Given the description of an element on the screen output the (x, y) to click on. 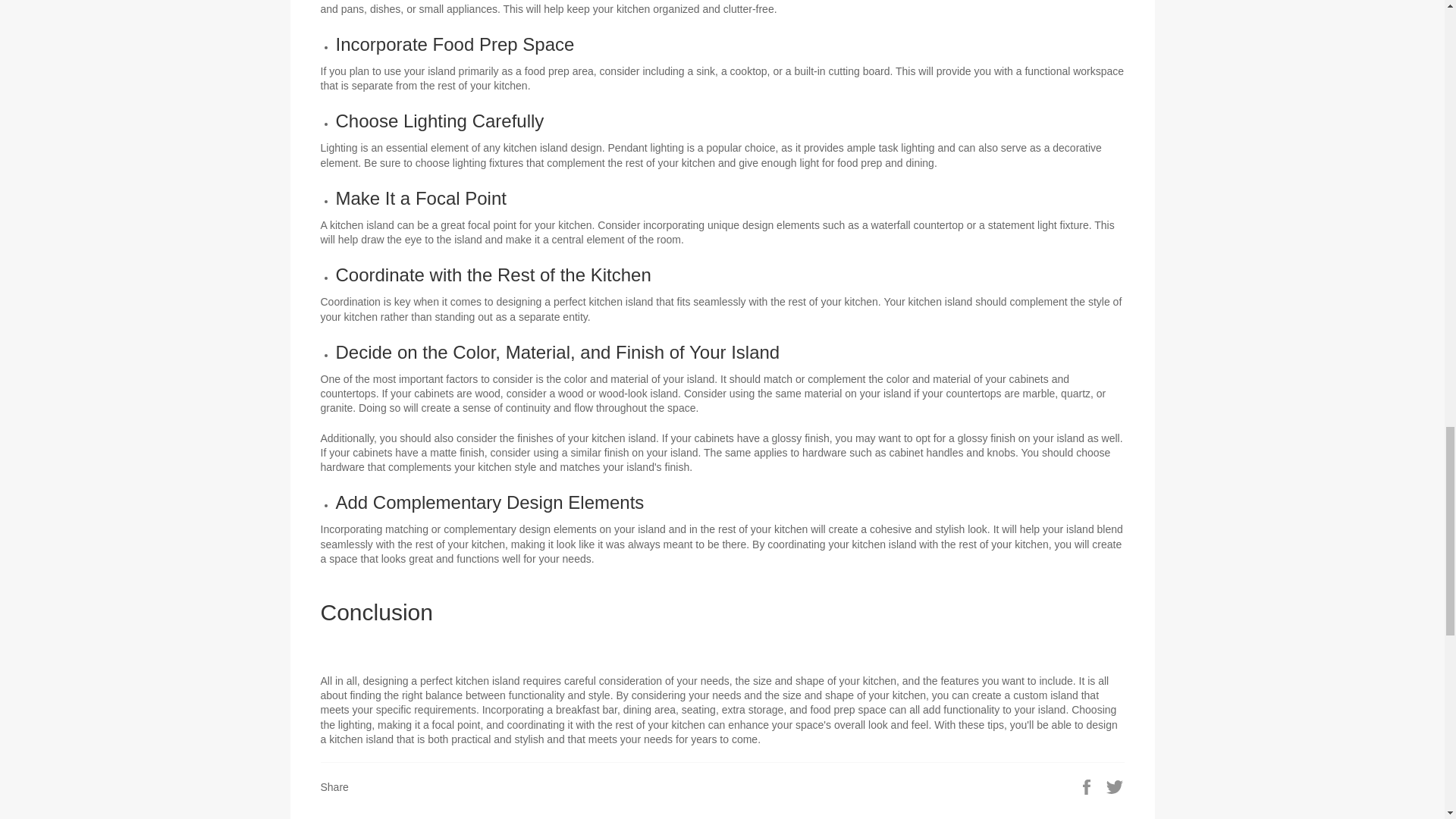
Tweet on Twitter (1114, 786)
Share on Facebook (1088, 786)
